Given the description of an element on the screen output the (x, y) to click on. 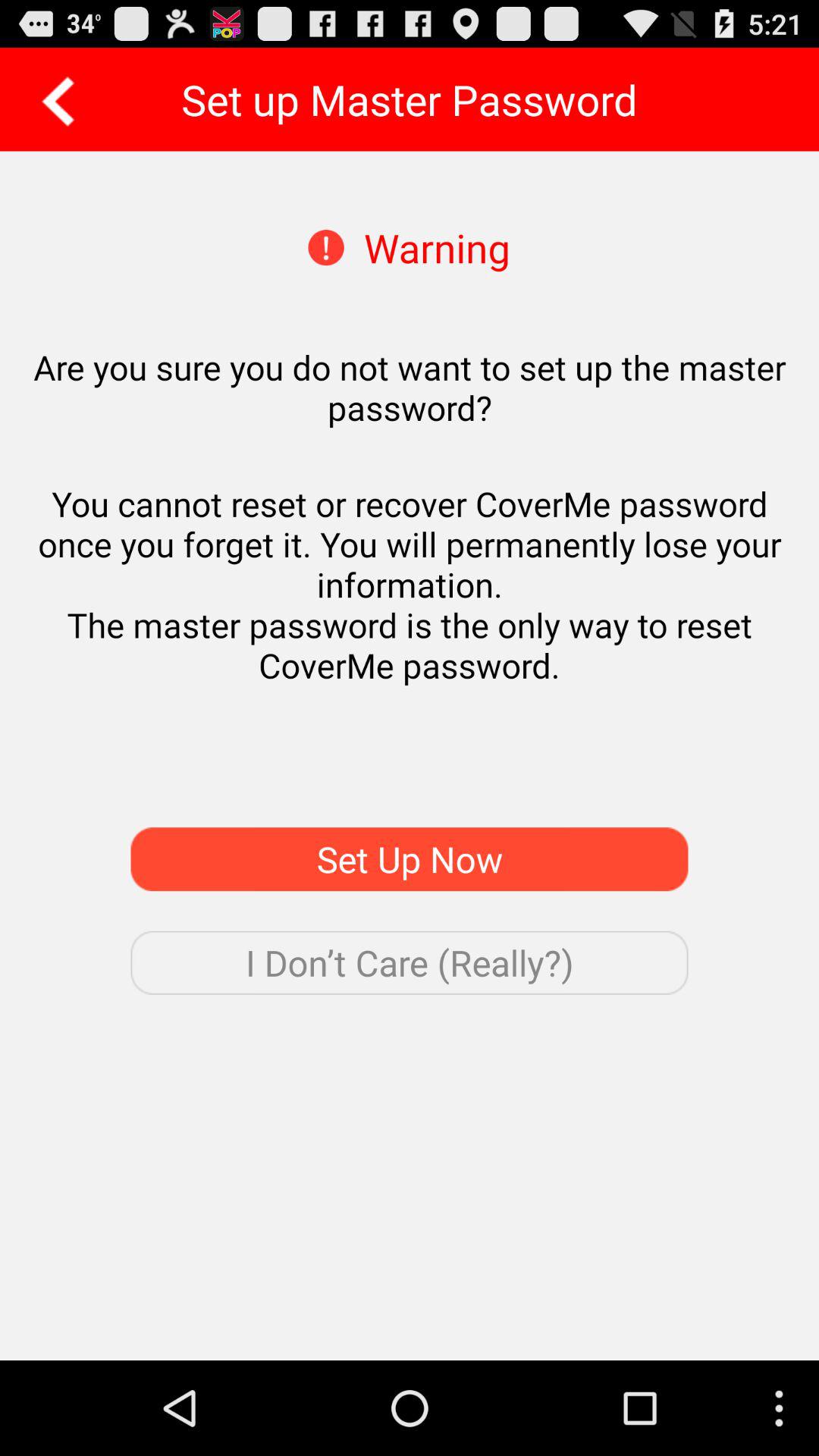
go to previous (53, 99)
